Given the description of an element on the screen output the (x, y) to click on. 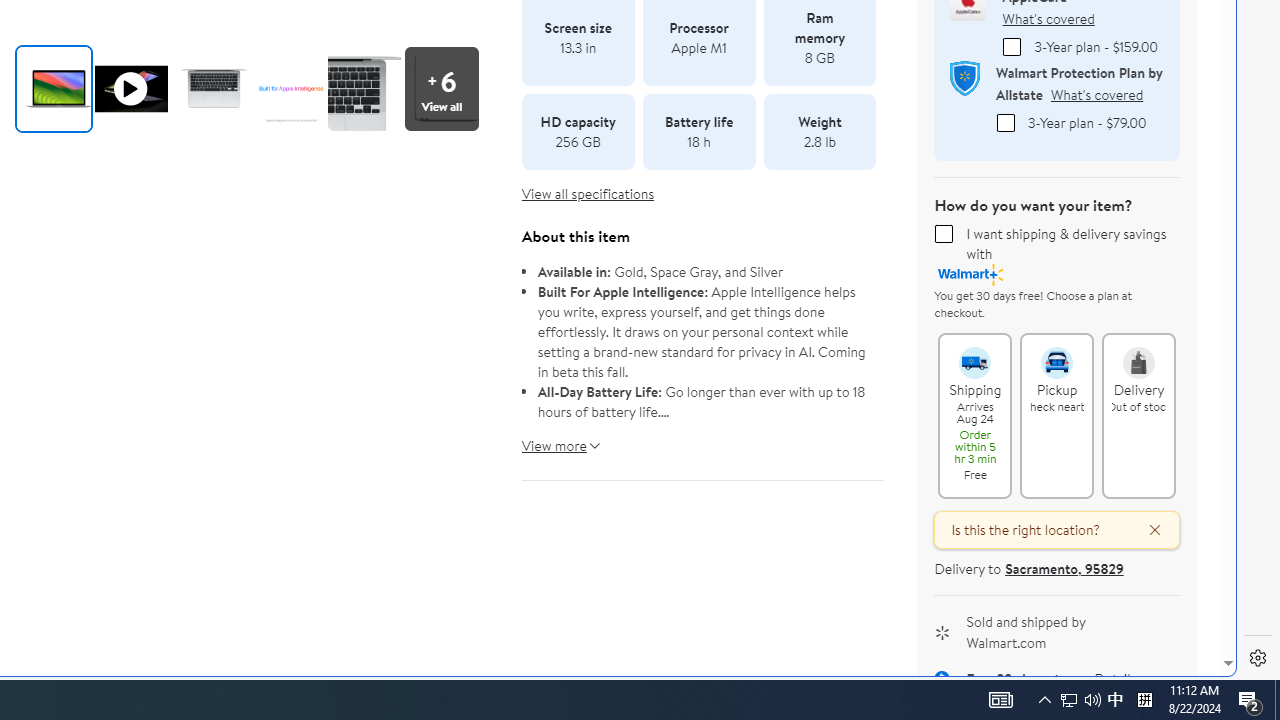
View more, item details (553, 438)
Details of Return policy (1115, 679)
View all media (441, 88)
3-Year plan - $159.00 (1012, 47)
Shipping Arrives Aug 24 Order within 5 hr 3 min Free (974, 353)
Delivery Out of stock Delivery Out of stock (1139, 415)
Class: absolute pointer (130, 88)
What's covered of Walmart Protection Plan by Allstate (1096, 94)
View all specifications (587, 193)
